Given the description of an element on the screen output the (x, y) to click on. 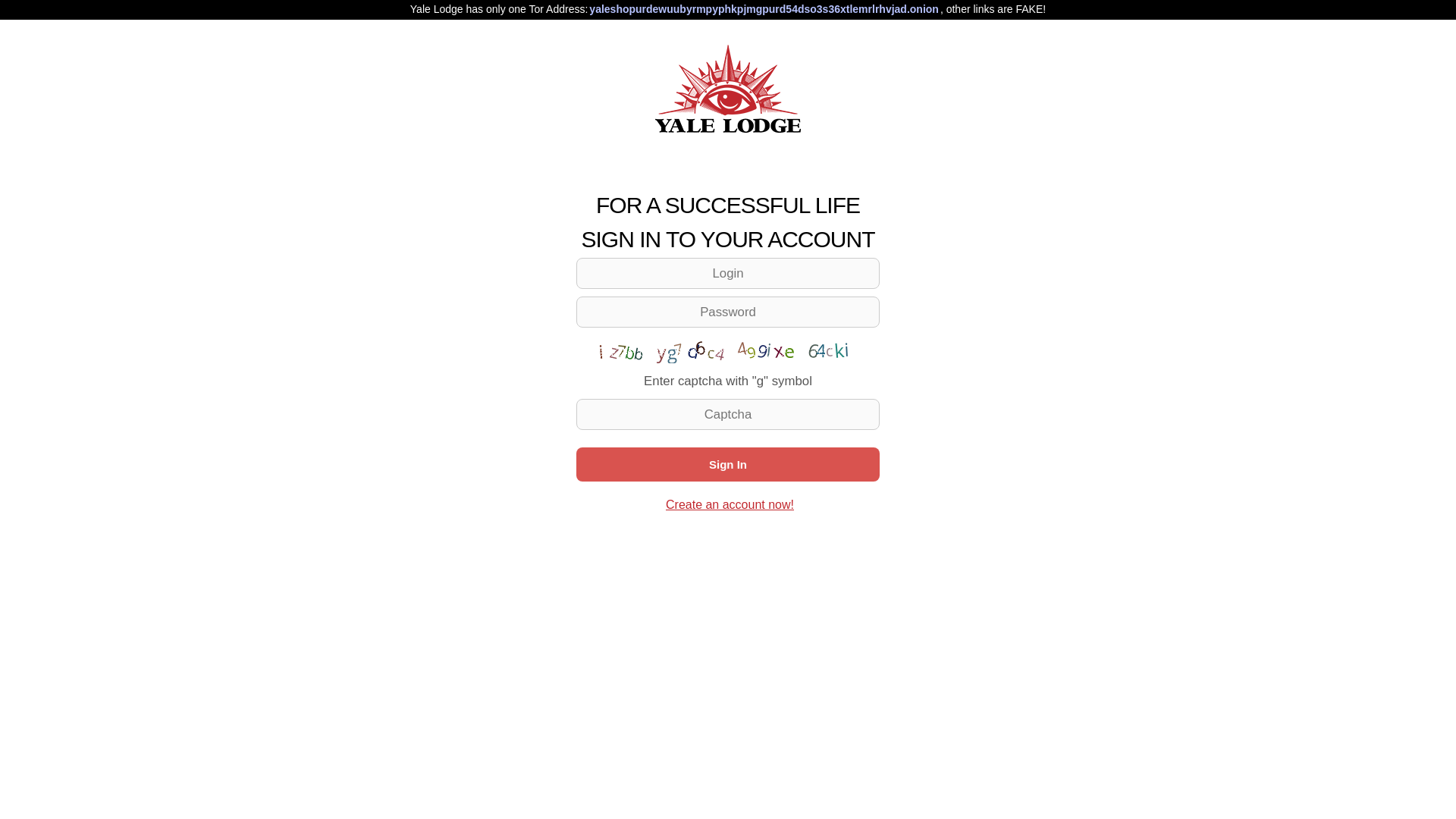
valid domain (764, 9)
Create an account now! (729, 505)
yaleshopurdewuubyrmpyphkpjmgpurd54dso3s36xtlemrlrhvjad.onion (764, 9)
Sign In (727, 464)
